Given the description of an element on the screen output the (x, y) to click on. 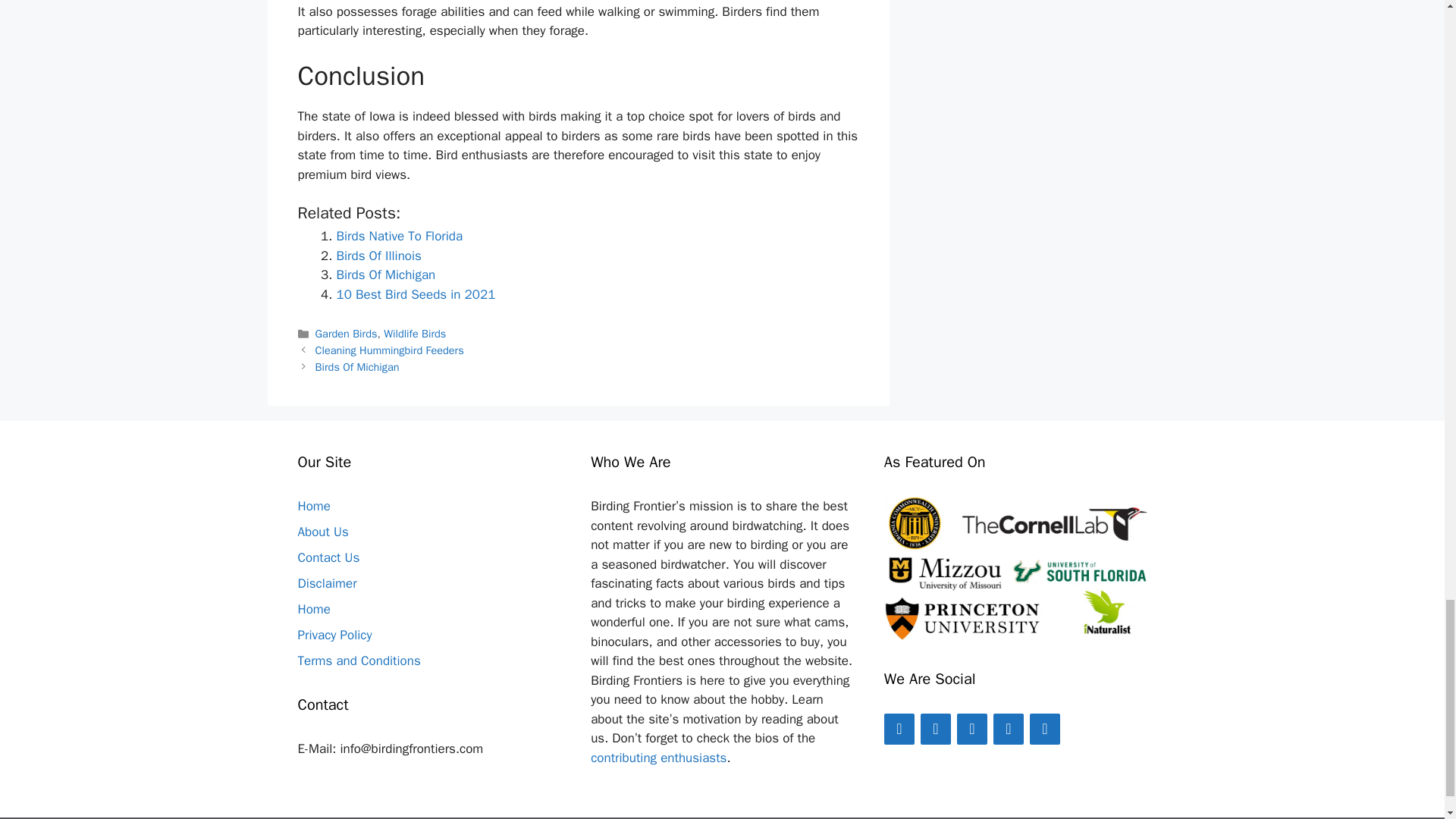
Birds Native To Florida (399, 236)
Garden Birds (346, 333)
Birds Of Illinois (379, 255)
Cleaning Hummingbird Feeders (389, 350)
Birds Native To Florida (399, 236)
Wildlife Birds (414, 333)
Birds Of Illinois (379, 255)
Birds Of Michigan (385, 274)
10 Best Bird Seeds in 2021 (416, 294)
As Featured On (1015, 567)
Birds Of Michigan (385, 274)
10 Best Bird Seeds in 2021 (416, 294)
Birds Of Michigan (356, 366)
